Given the description of an element on the screen output the (x, y) to click on. 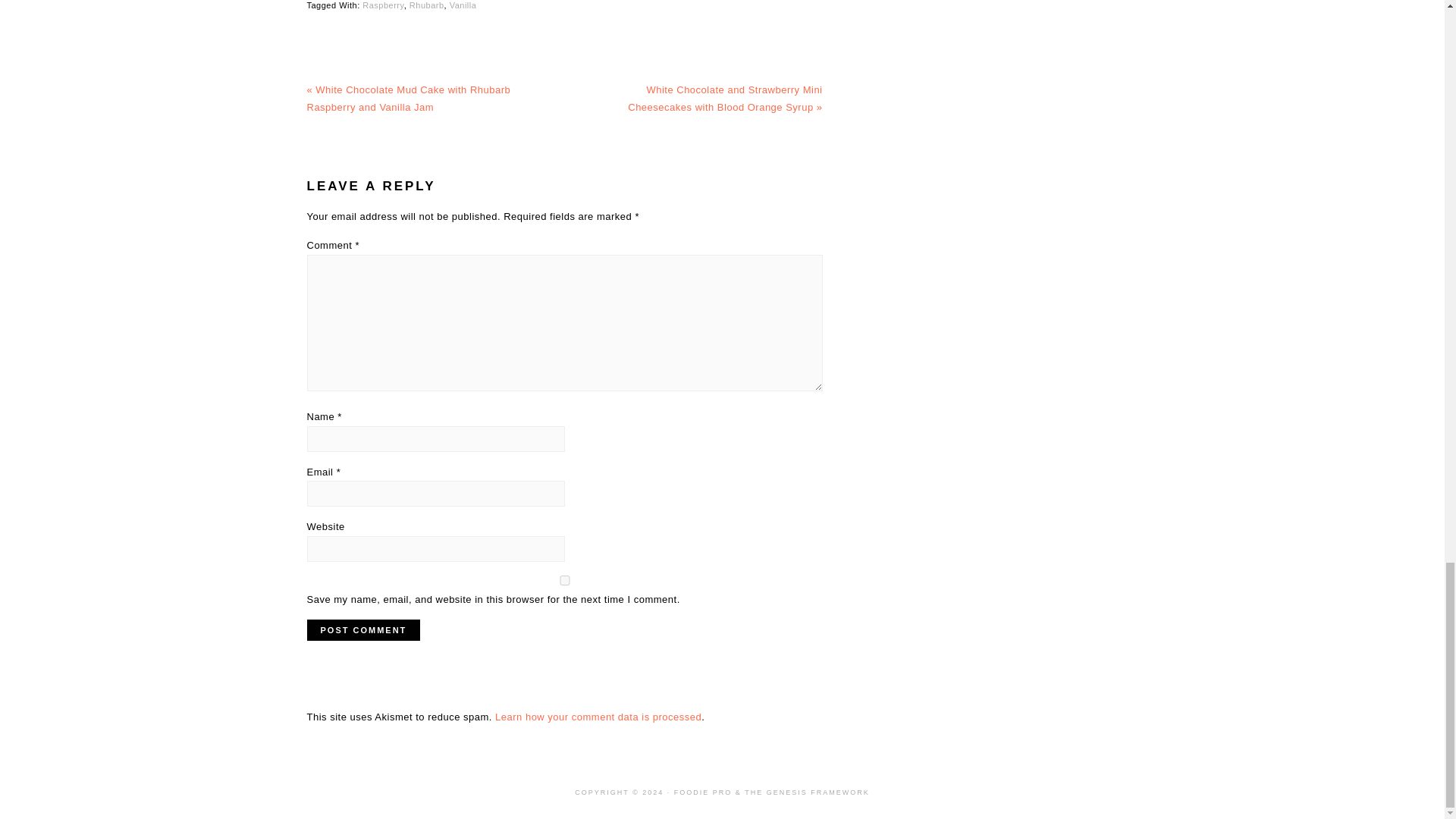
Post Comment (362, 629)
Raspberry (382, 4)
Rhubarb (426, 4)
yes (563, 580)
Learn how your comment data is processed (598, 716)
Post Comment (362, 629)
Vanilla (463, 4)
